Given the description of an element on the screen output the (x, y) to click on. 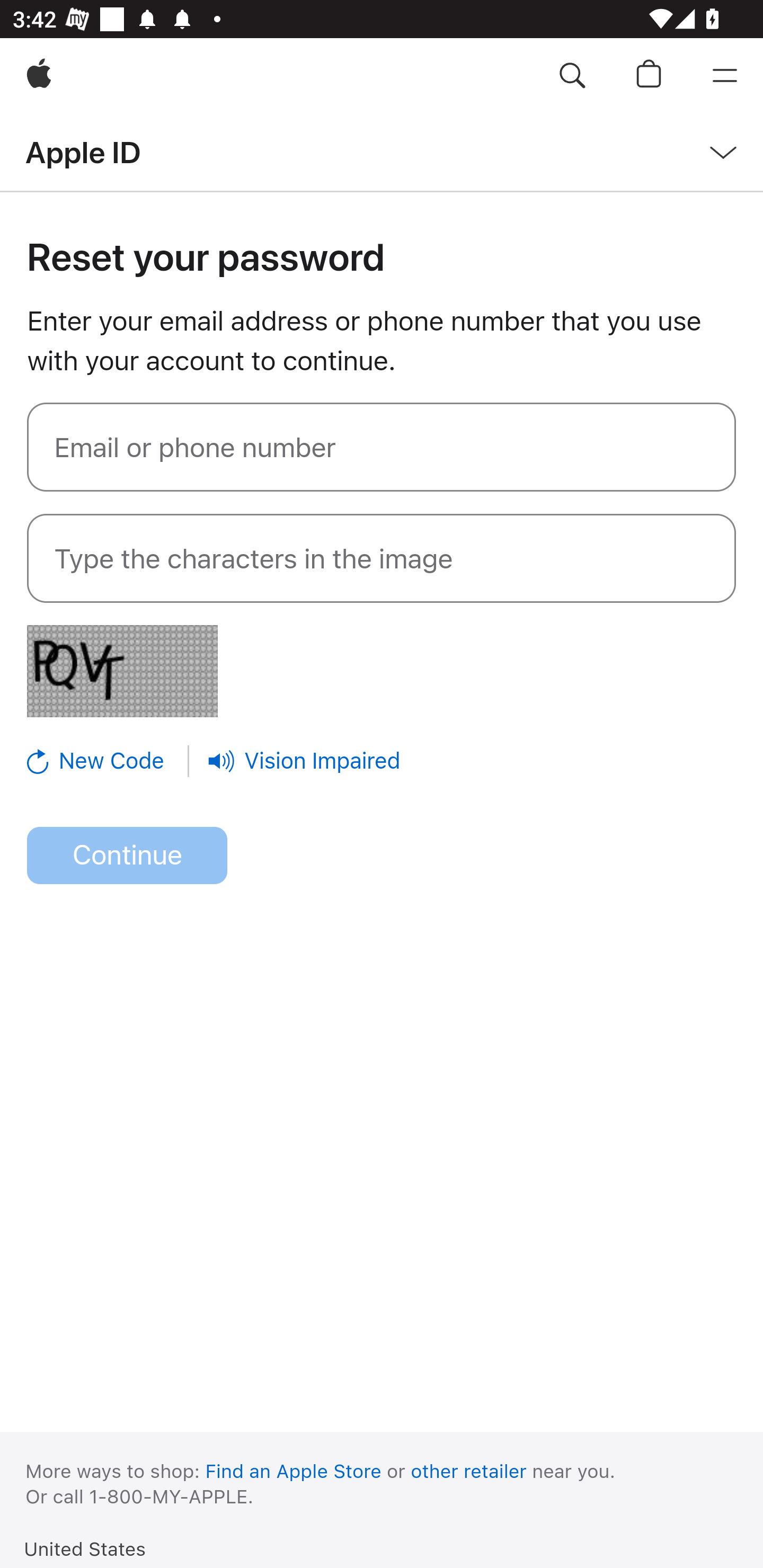
Apple (38, 75)
Search apple.com (572, 75)
Shopping Bag (648, 75)
Menu (724, 75)
Apple ID (83, 151)
 New Code (108, 760)
 Vision Impaired (304, 760)
Continue (126, 855)
Find an Apple Store (293, 1470)
other retailer (468, 1470)
United States (84, 1548)
